Given the description of an element on the screen output the (x, y) to click on. 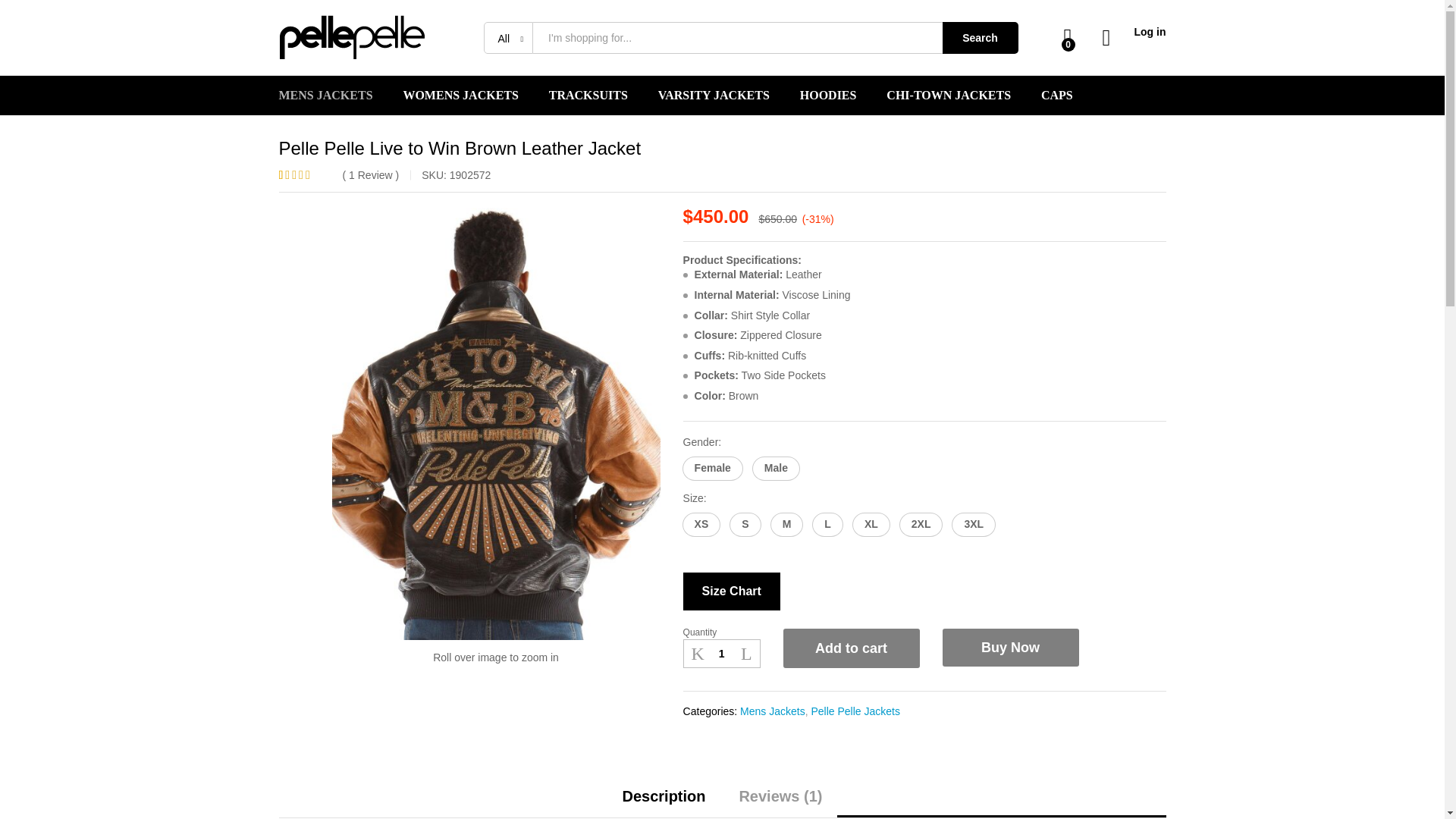
CHI-TOWN JACKETS (948, 95)
Search (979, 37)
Size Chart (731, 591)
MENS JACKETS (325, 95)
Mens Jackets (772, 711)
1 (721, 653)
HOODIES (828, 95)
Buy Now (1010, 647)
Add to cart (851, 648)
TRACKSUITS (587, 95)
